Given the description of an element on the screen output the (x, y) to click on. 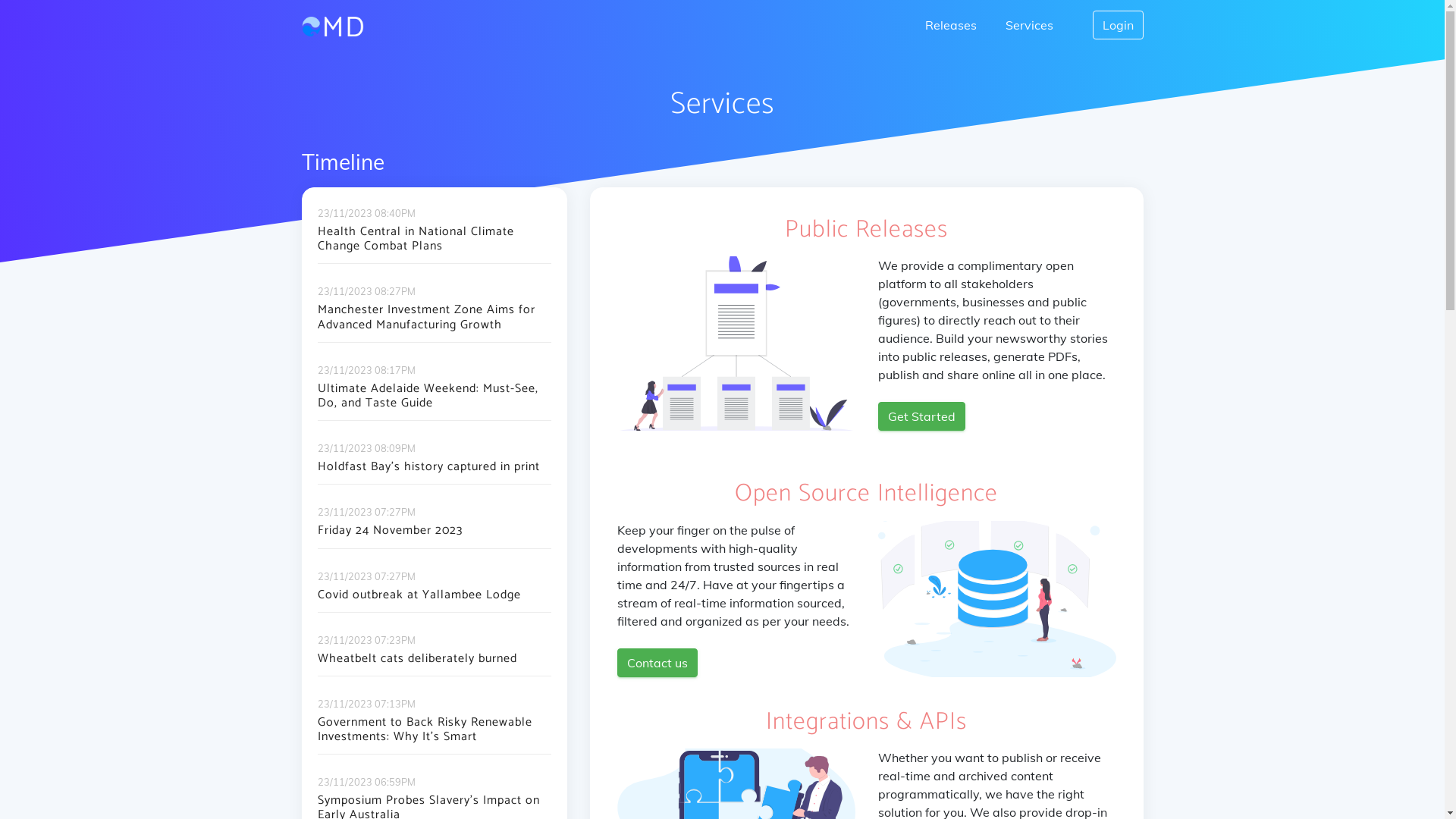
Releases Element type: text (950, 24)
Friday 24 November 2023 Element type: text (433, 540)
Services Element type: text (1029, 24)
Login Element type: text (1117, 24)
Covid outbreak at Yallambee Lodge Element type: text (433, 603)
Ultimate Adelaide Weekend: Must-See, Do, and Taste Guide Element type: text (433, 405)
Wheatbelt cats deliberately burned Element type: text (433, 668)
Health Central in National Climate Change Combat Plans Element type: text (433, 248)
Get Started Element type: text (921, 415)
Holdfast Bay's history captured in print Element type: text (433, 476)
Contact us Element type: text (657, 662)
